Given the description of an element on the screen output the (x, y) to click on. 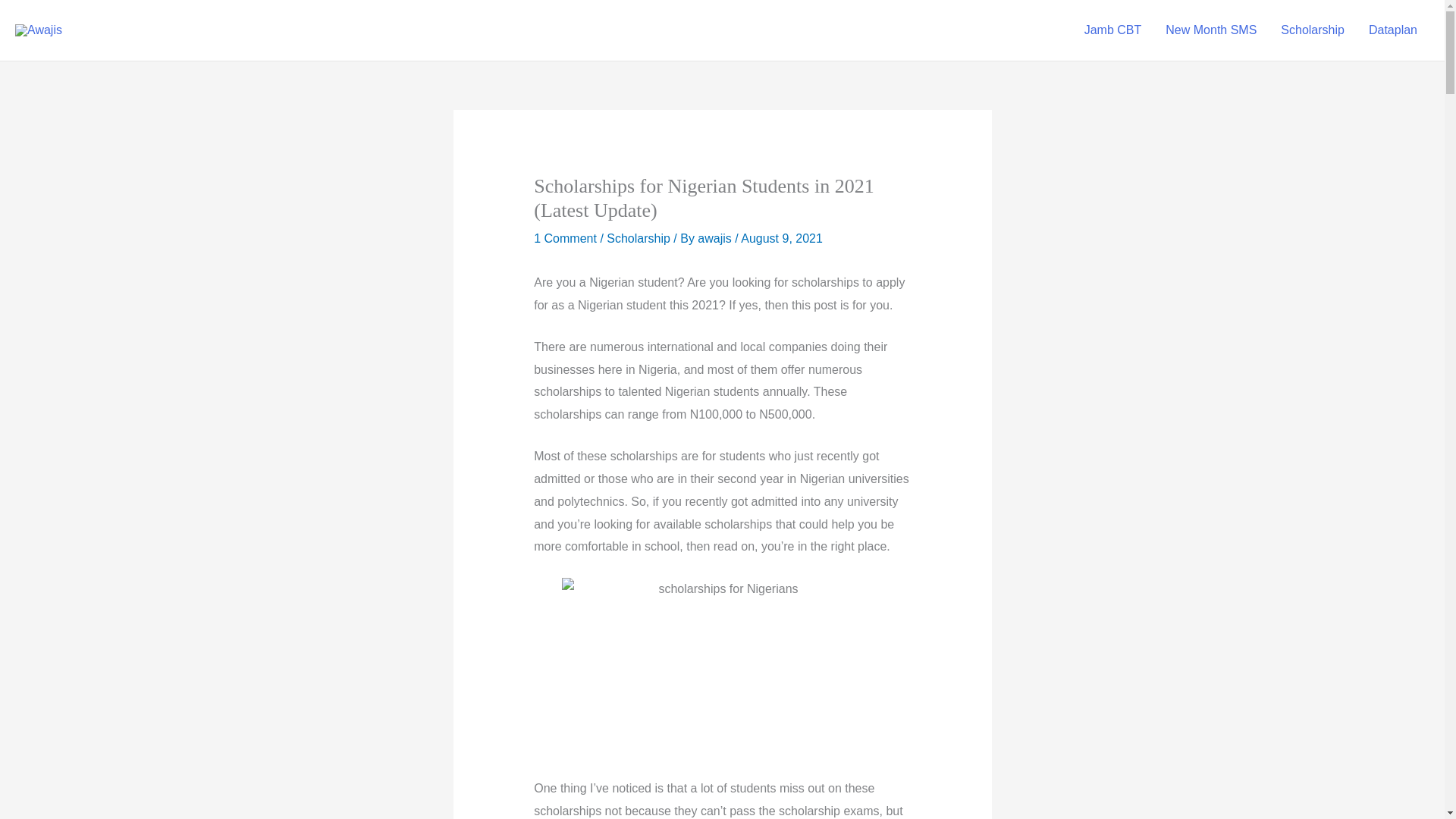
View all posts by awajis (716, 237)
Dataplan (1392, 30)
New Month SMS (1210, 30)
Jamb CBT (1112, 30)
Scholarship (1312, 30)
